Given the description of an element on the screen output the (x, y) to click on. 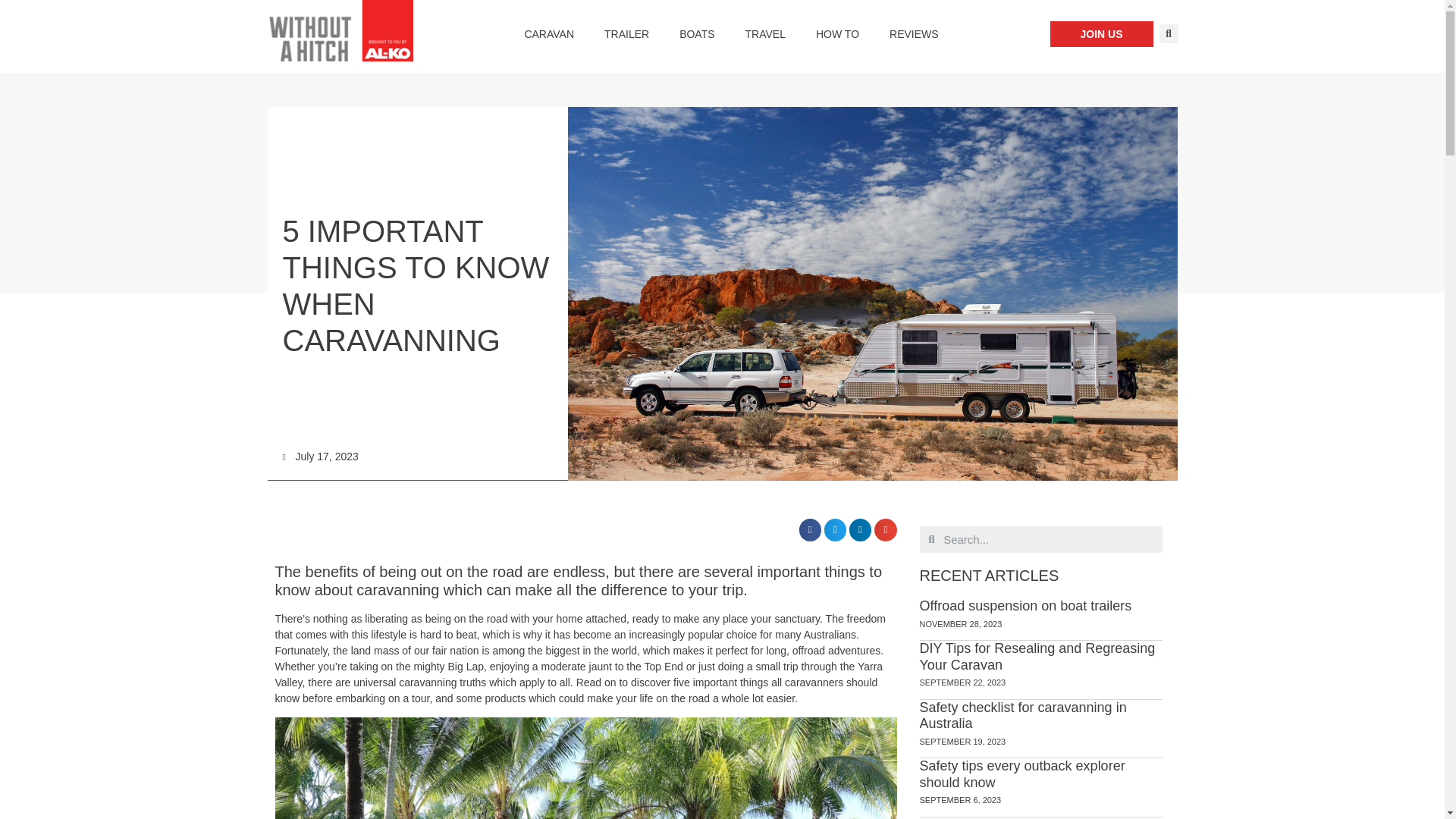
HOW TO (837, 33)
DIY Tips for Resealing and Regreasing Your Caravan (1036, 656)
Safety tips every outback explorer should know (1021, 774)
TRAILER (626, 33)
BOATS (696, 33)
TRAVEL (765, 33)
JOIN US (1101, 33)
Search (1047, 539)
REVIEWS (914, 33)
Safety checklist for caravanning in Australia (1021, 716)
CARAVAN (548, 33)
Offroad suspension on boat trailers (1024, 605)
July 17, 2023 (320, 456)
